Given the description of an element on the screen output the (x, y) to click on. 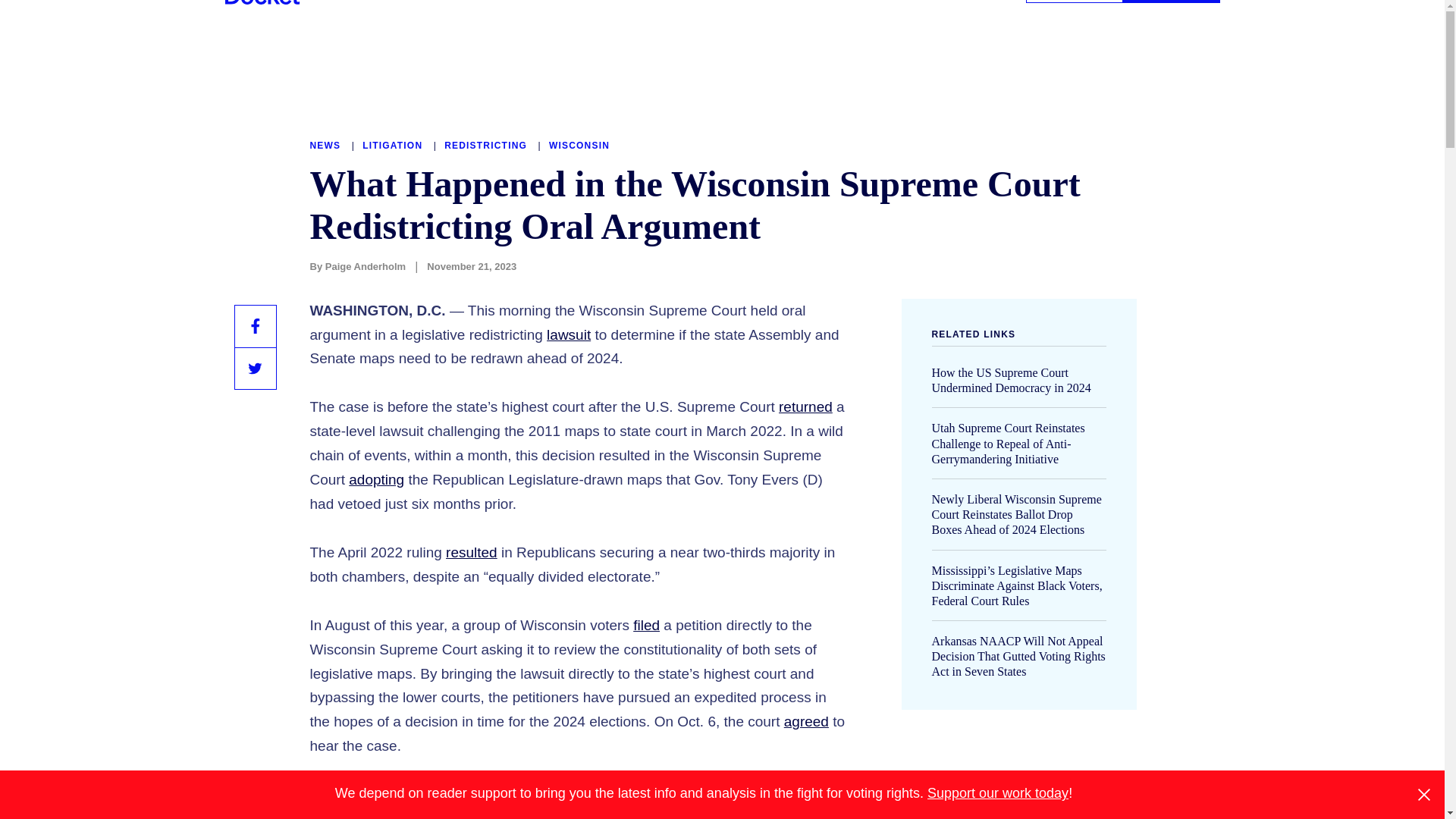
Share on Facebook (254, 325)
resulted (471, 552)
Share on Twitter (254, 368)
adopting (376, 479)
Paige Anderholm (365, 266)
REDISTRICTING (486, 145)
SUBSCRIBE (1171, 1)
WISCONSIN (579, 145)
NEWS (325, 145)
LITIGATION (394, 145)
returned (805, 406)
filed (646, 625)
agreed (806, 721)
SUPPORT (1073, 1)
lawsuit (569, 334)
